Given the description of an element on the screen output the (x, y) to click on. 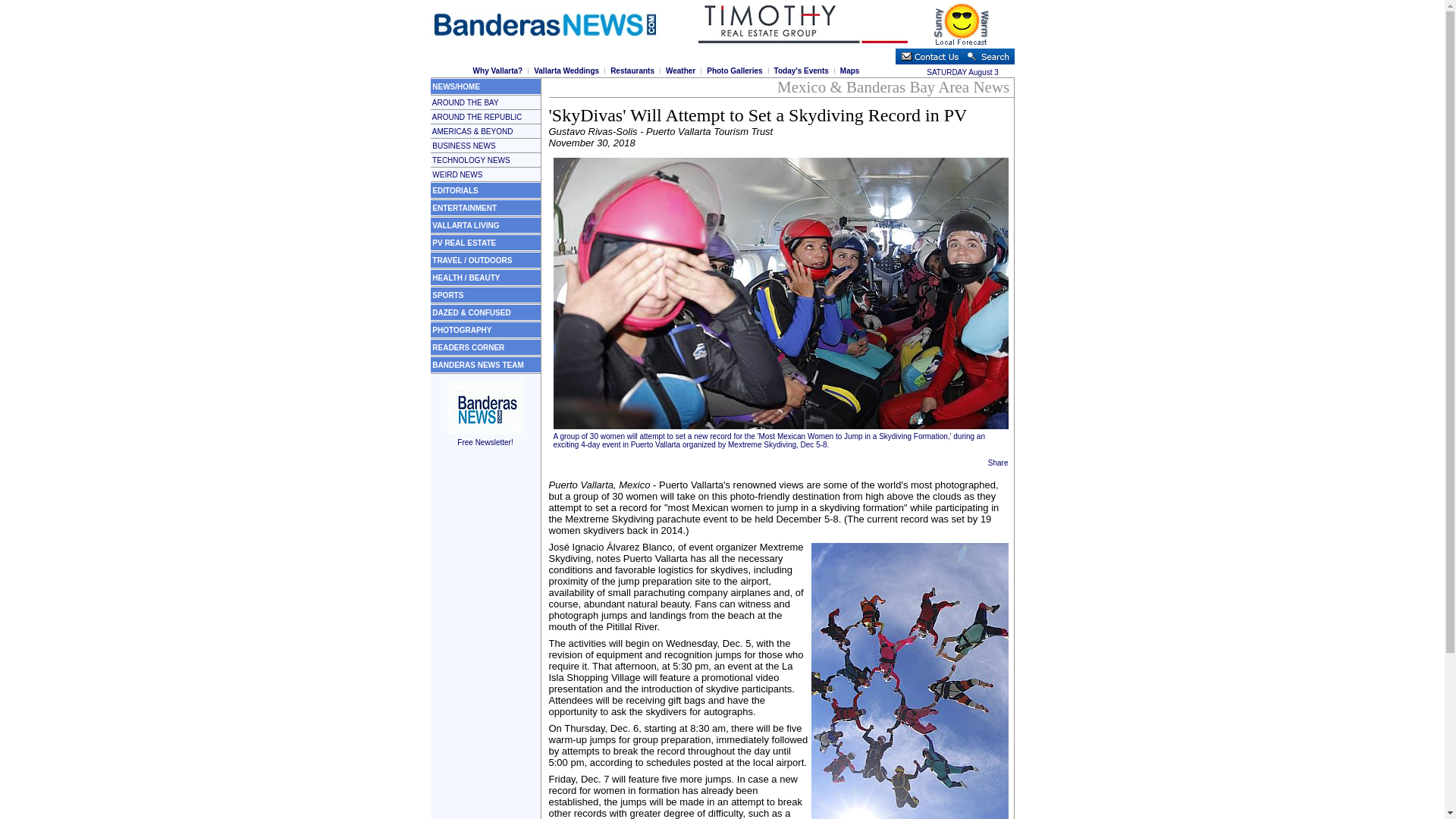
WEIRD NEWS (456, 173)
Weather (680, 70)
Today's Events (801, 70)
AROUND THE BAY (465, 102)
SPORTS (447, 295)
AROUND THE REPUBLIC (477, 116)
PV REAL ESTATE (464, 242)
Vallarta Weddings (566, 70)
Restaurants (631, 70)
Maps (850, 70)
